Given the description of an element on the screen output the (x, y) to click on. 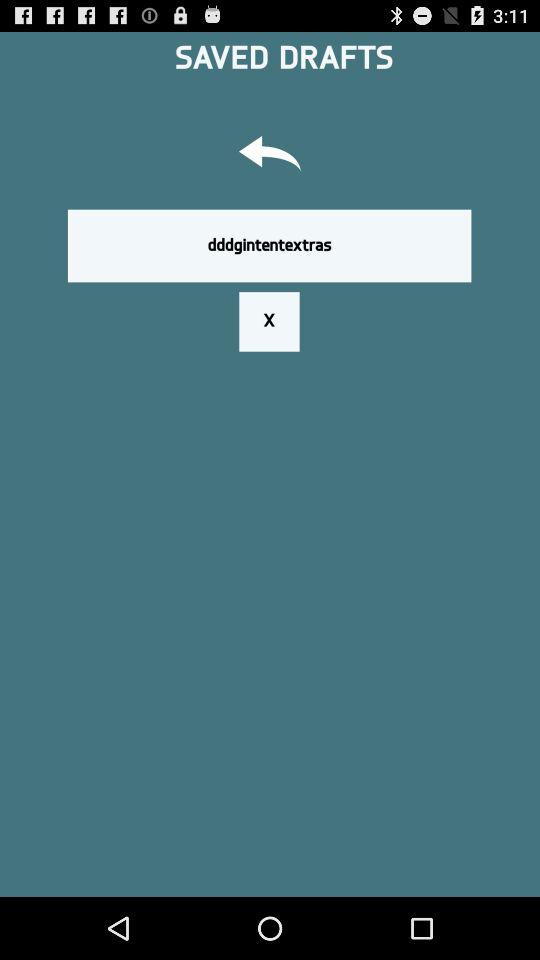
swipe to dddgintentextras (269, 245)
